Given the description of an element on the screen output the (x, y) to click on. 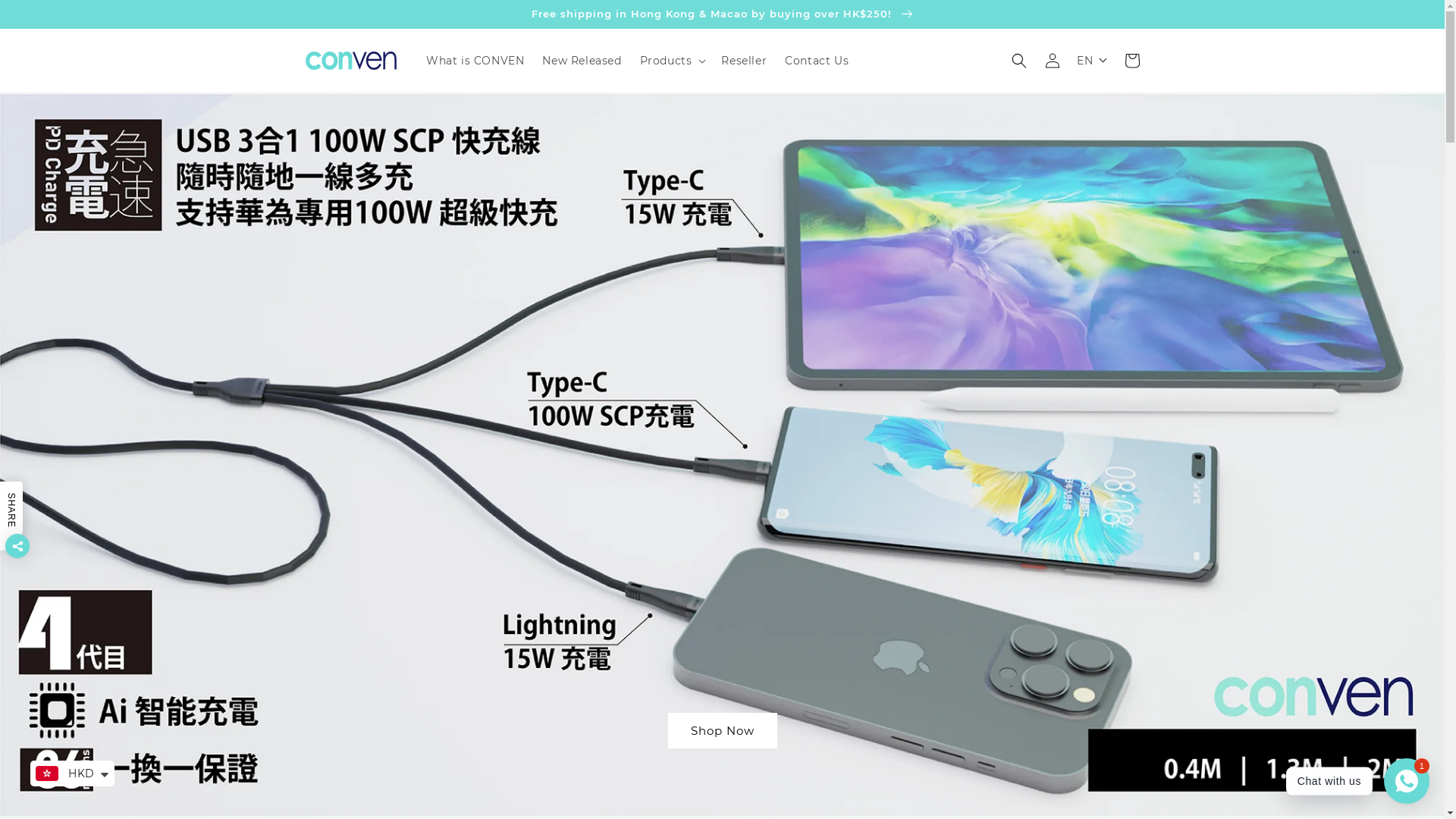
Reseller Element type: text (743, 60)
Cart Element type: text (1131, 60)
Free shipping in Hong Kong & Macao by buying over HK$250! Element type: text (722, 14)
Shop Now Element type: text (927, 730)
New Released Element type: text (581, 60)
Log in Element type: text (1052, 60)
What is CONVEN Element type: text (475, 60)
Contact Us Element type: text (816, 60)
